Given the description of an element on the screen output the (x, y) to click on. 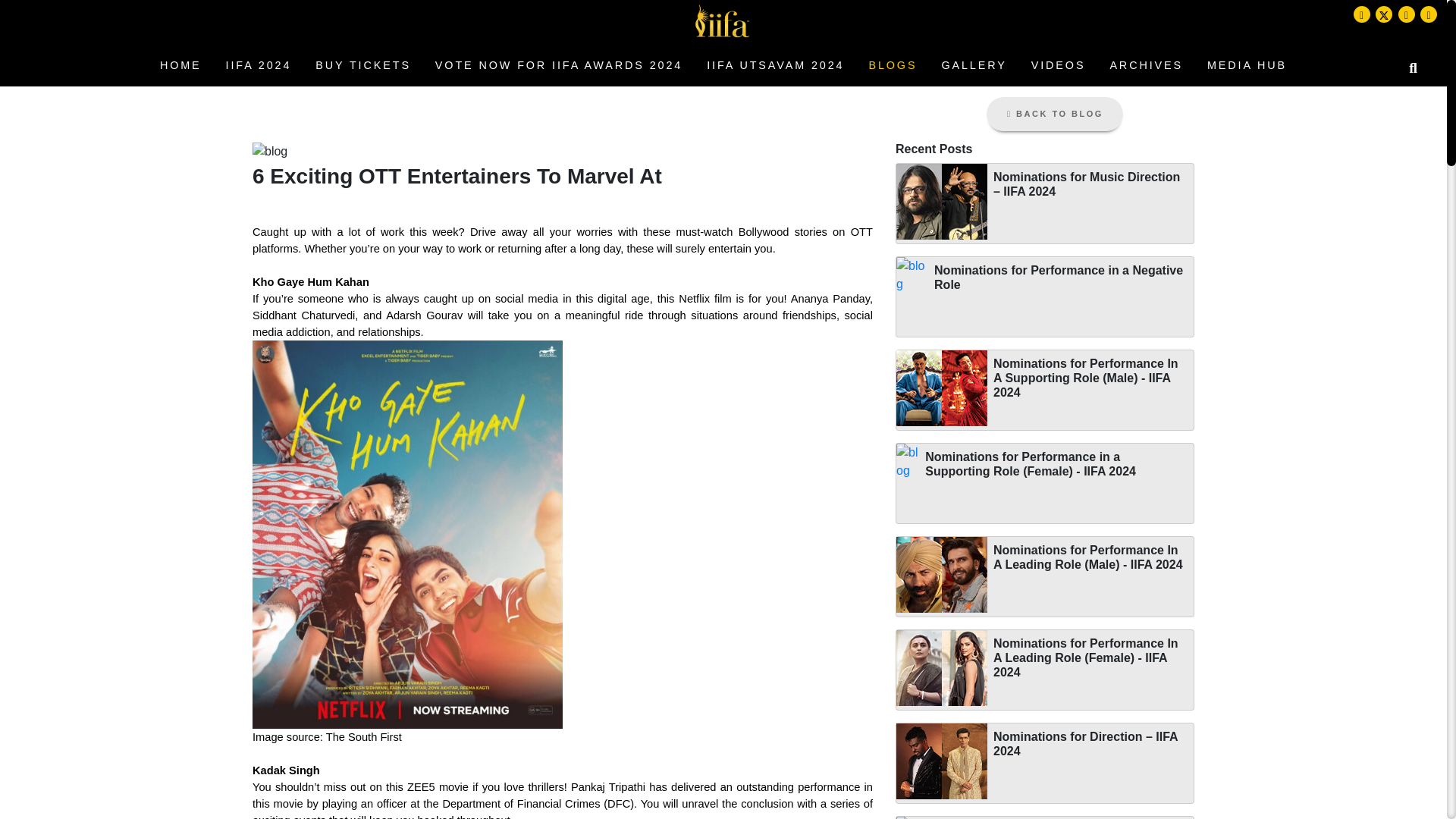
BUY TICKETS (362, 65)
VOTE NOW FOR IIFA AWARDS 2024 (558, 65)
VIDEOS (1058, 65)
HOME (181, 65)
BACK TO BLOG (1054, 114)
IIFA UTSAVAM 2024 (775, 65)
IIFA 2024 (258, 65)
MEDIA HUB (1246, 65)
ARCHIVES (1146, 65)
GALLERY (972, 65)
